Given the description of an element on the screen output the (x, y) to click on. 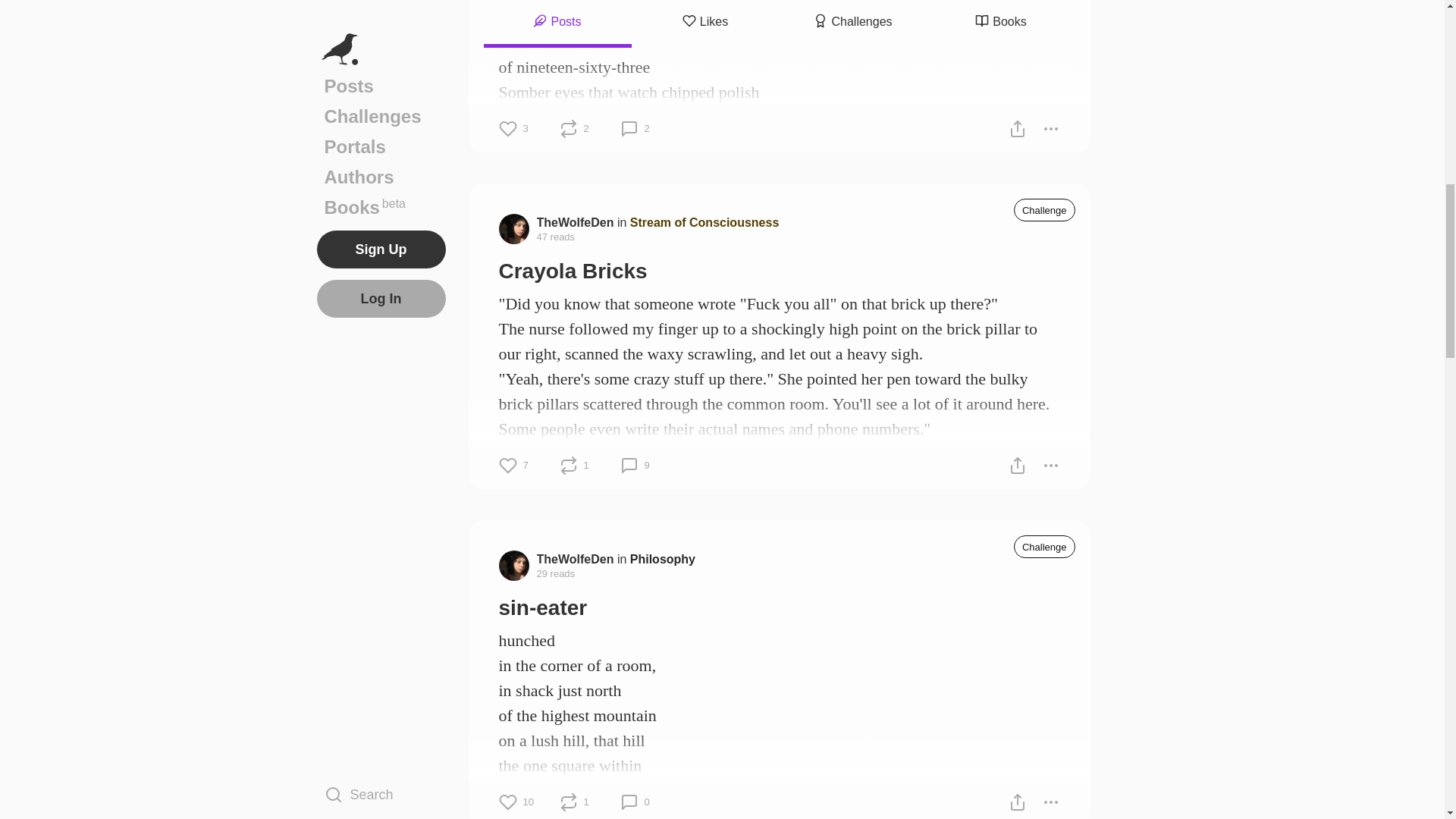
Challenge (1044, 210)
Challenge (1044, 546)
TheWolfeDen (575, 221)
Stream of Consciousness (704, 221)
